Given the description of an element on the screen output the (x, y) to click on. 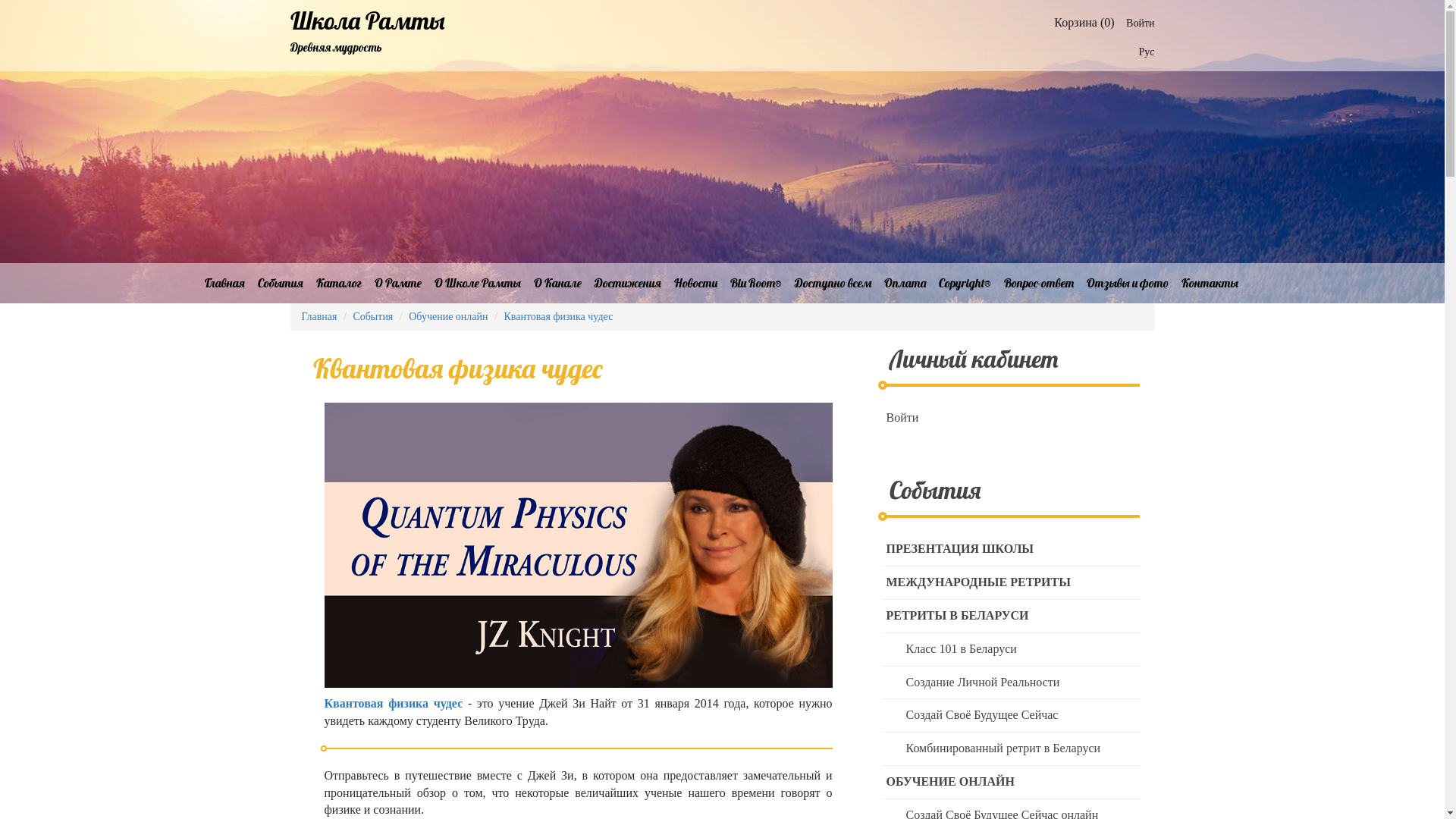
Skip to content Element type: text (0, 0)
